Given the description of an element on the screen output the (x, y) to click on. 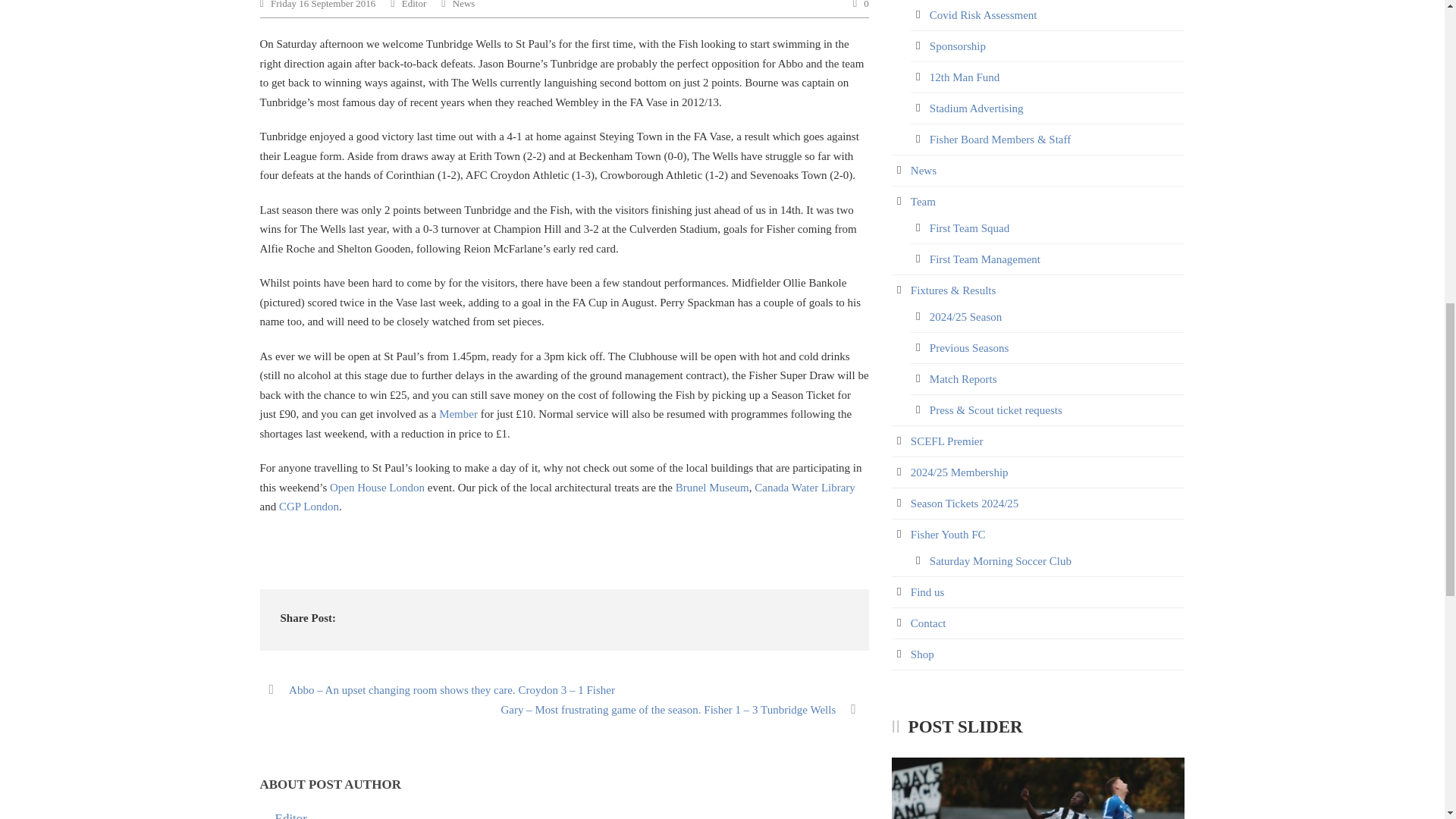
Posts by Editor (291, 815)
Posts by Editor (413, 4)
